Given the description of an element on the screen output the (x, y) to click on. 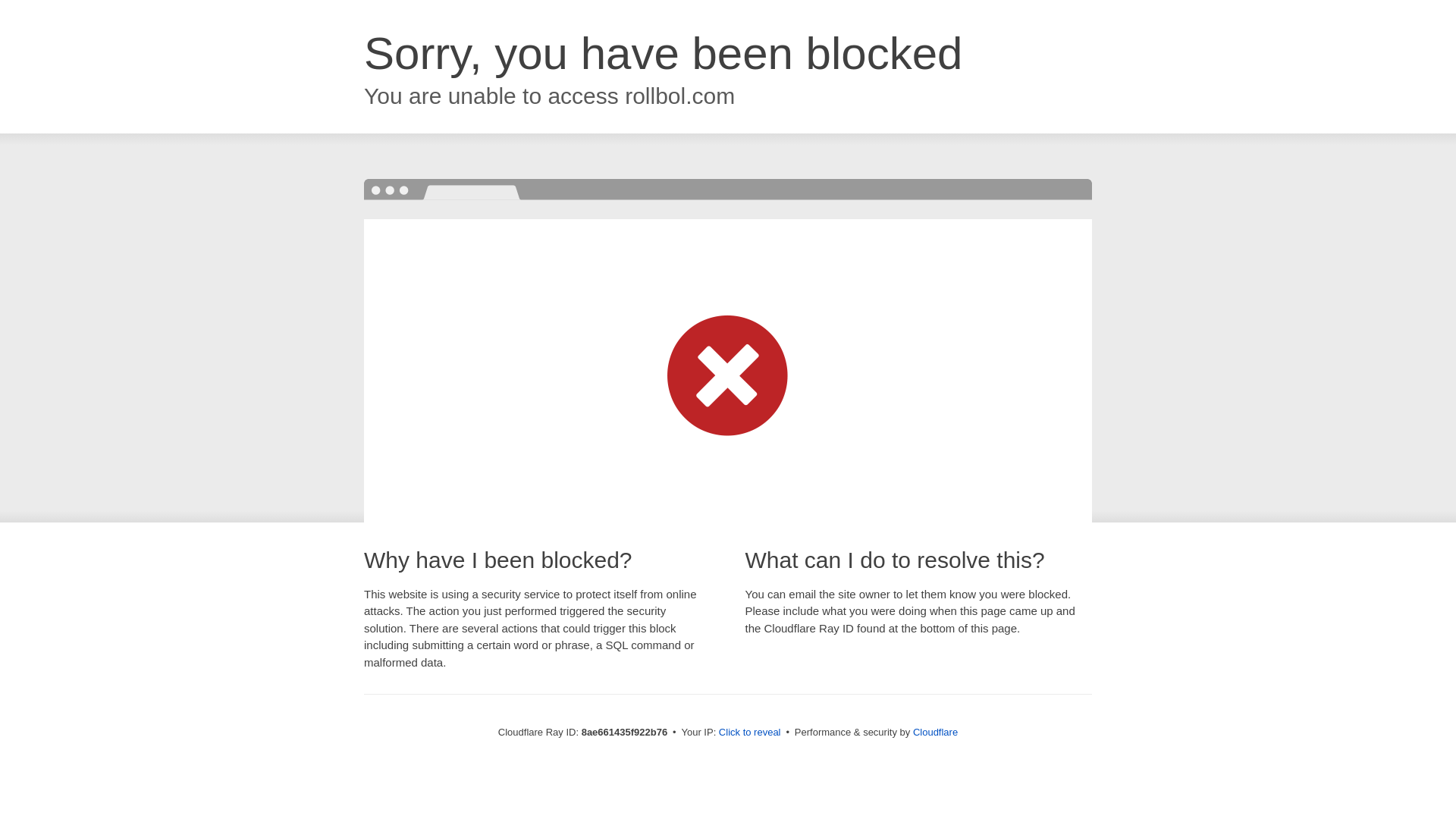
Cloudflare (935, 731)
Click to reveal (749, 732)
